Given the description of an element on the screen output the (x, y) to click on. 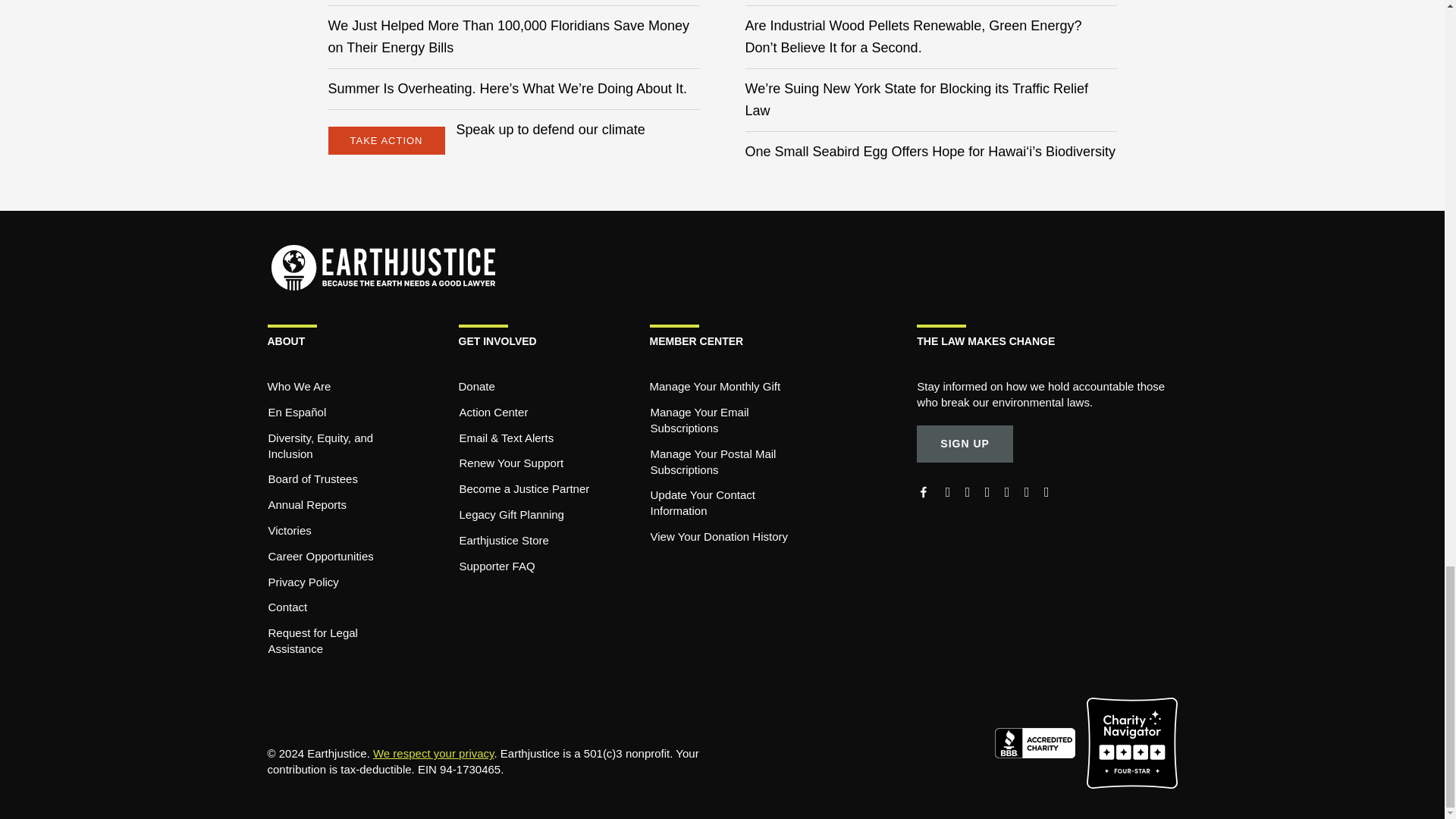
Charity Navigator: Four-Star Charity (1131, 741)
Speak up to defend our climate (551, 129)
BBB Accredited (1040, 741)
